Given the description of an element on the screen output the (x, y) to click on. 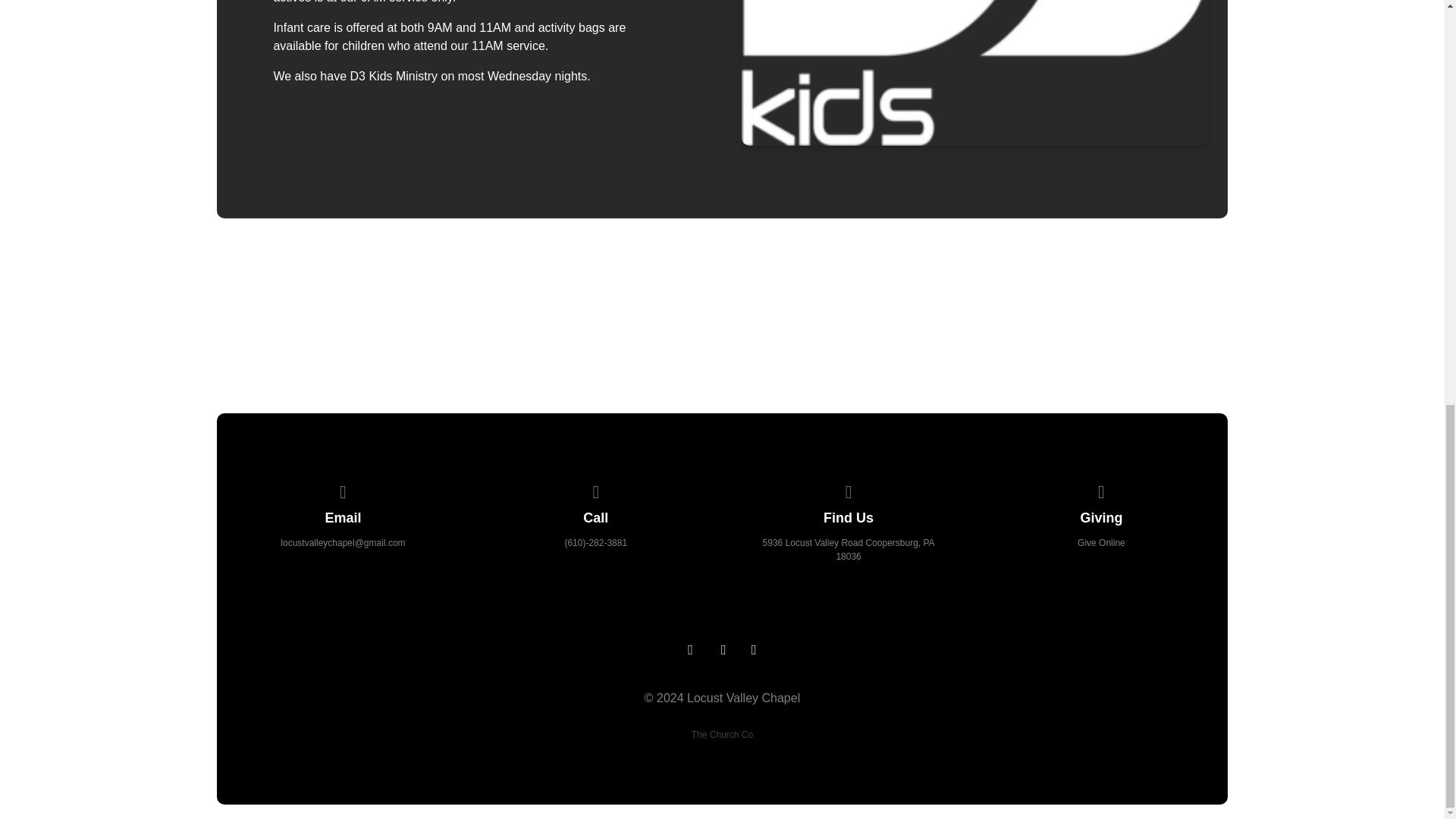
View map of our location (848, 489)
Give online (1102, 489)
Contact us via email (343, 489)
5936 Locust Valley Road Coopersburg, PA 18036 (848, 549)
